Given the description of an element on the screen output the (x, y) to click on. 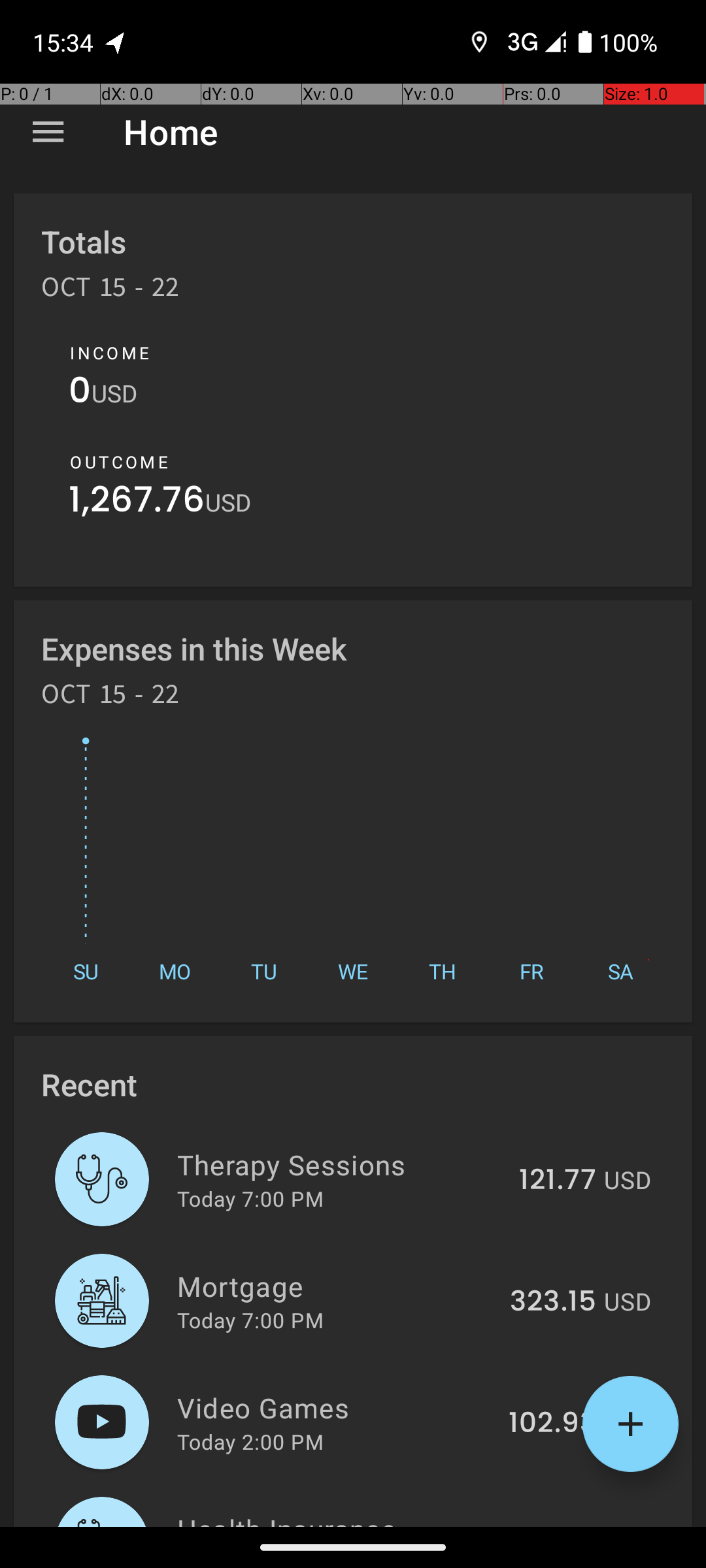
1,267.76 Element type: android.widget.TextView (136, 502)
Therapy Sessions Element type: android.widget.TextView (340, 1164)
Today 7:00 PM Element type: android.widget.TextView (250, 1198)
121.77 Element type: android.widget.TextView (557, 1180)
Mortgage Element type: android.widget.TextView (335, 1285)
323.15 Element type: android.widget.TextView (552, 1301)
Video Games Element type: android.widget.TextView (335, 1407)
Today 2:00 PM Element type: android.widget.TextView (250, 1441)
102.93 Element type: android.widget.TextView (551, 1423)
Health Insurance Element type: android.widget.TextView (340, 1518)
297.6 Element type: android.widget.TextView (557, 1524)
